Given the description of an element on the screen output the (x, y) to click on. 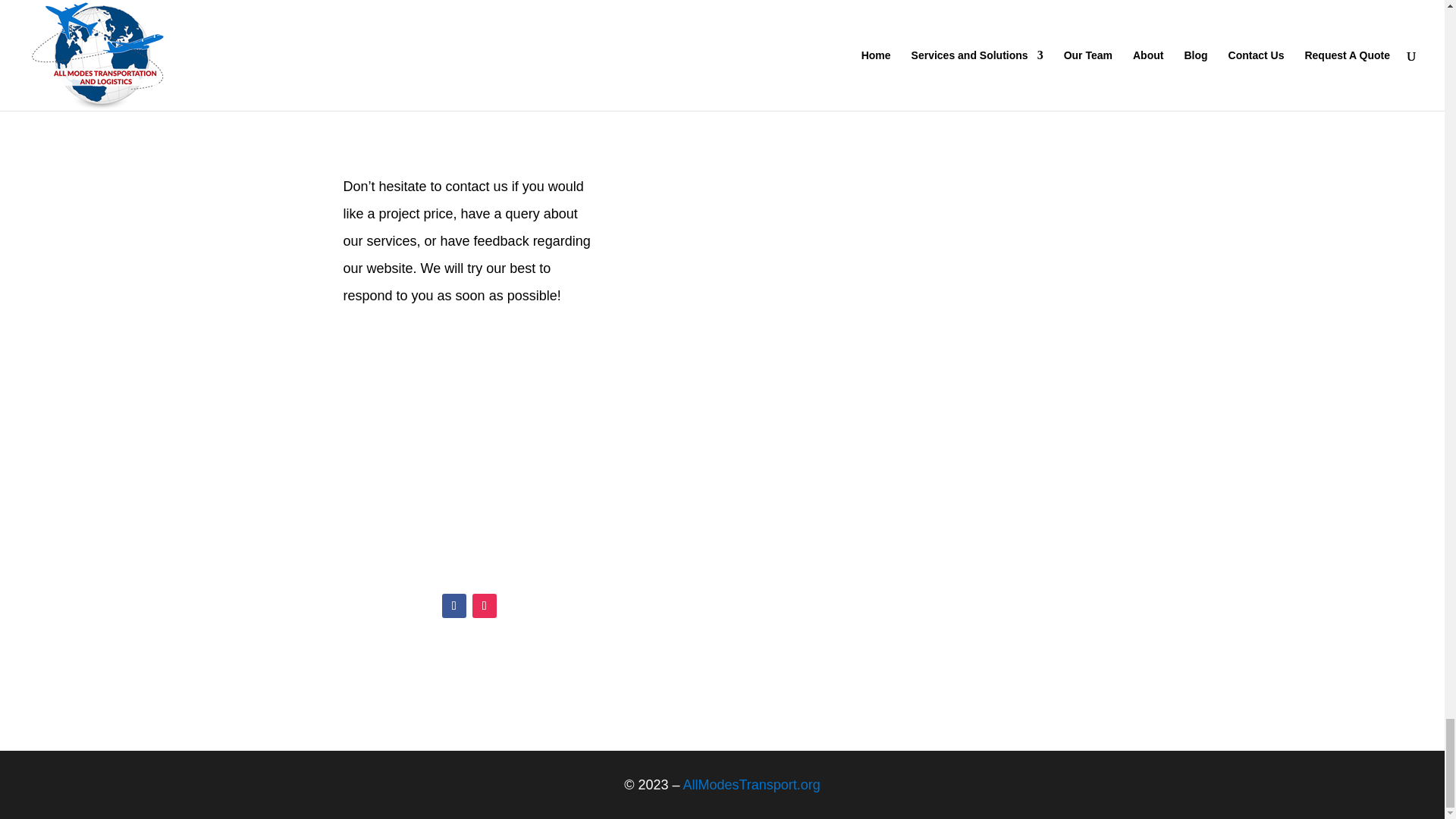
AllModesTransport.org (750, 784)
Follow on Facebook (453, 605)
Follow on Instagram (483, 605)
